Given the description of an element on the screen output the (x, y) to click on. 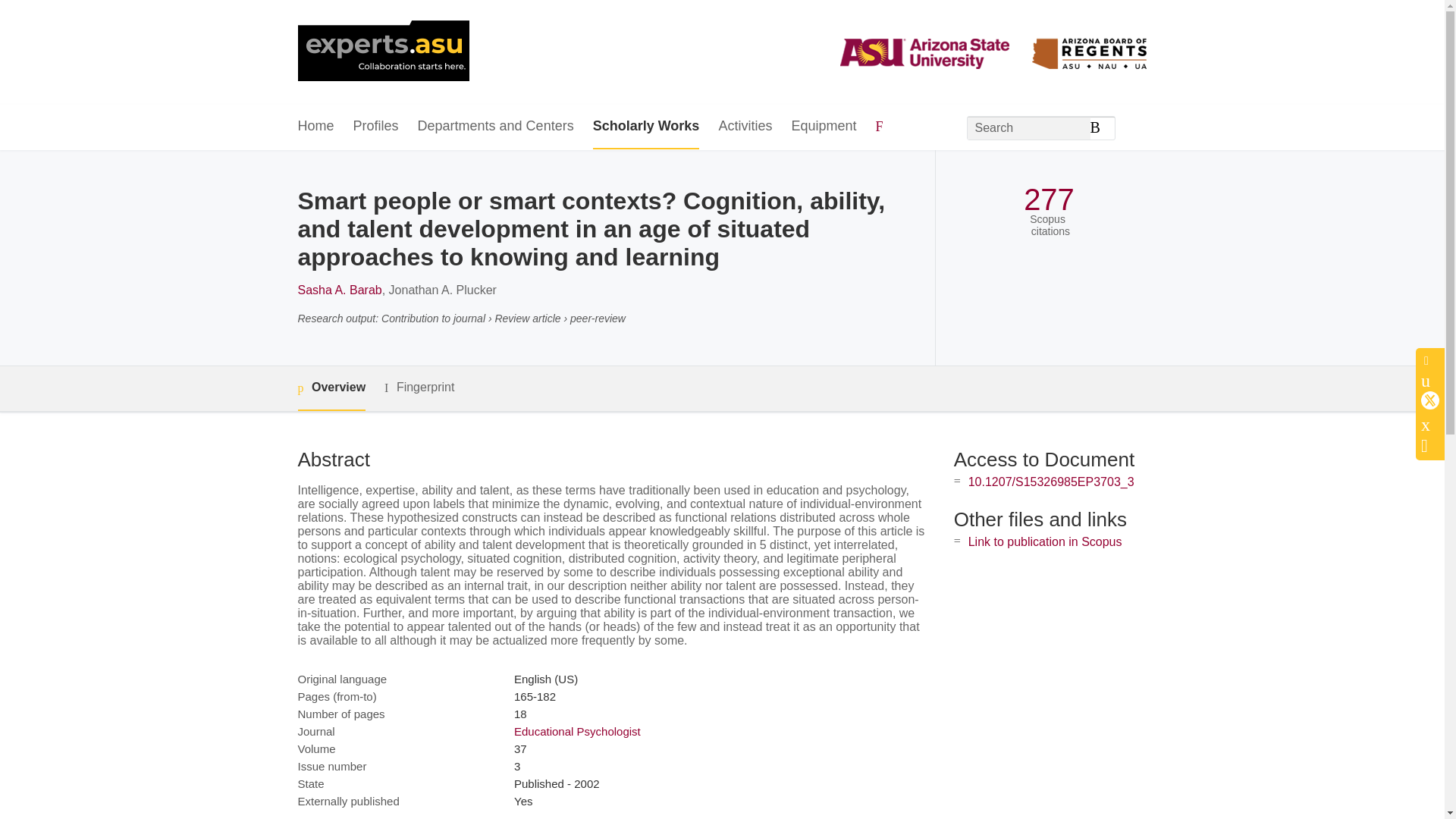
Activities (744, 126)
Scholarly Works (646, 126)
277 (1048, 199)
Educational Psychologist (576, 730)
Profiles (375, 126)
Equipment (823, 126)
Fingerprint (419, 387)
Link to publication in Scopus (1045, 541)
Arizona State University Home (382, 52)
Overview (331, 388)
Sasha A. Barab (339, 289)
Departments and Centers (495, 126)
